Given the description of an element on the screen output the (x, y) to click on. 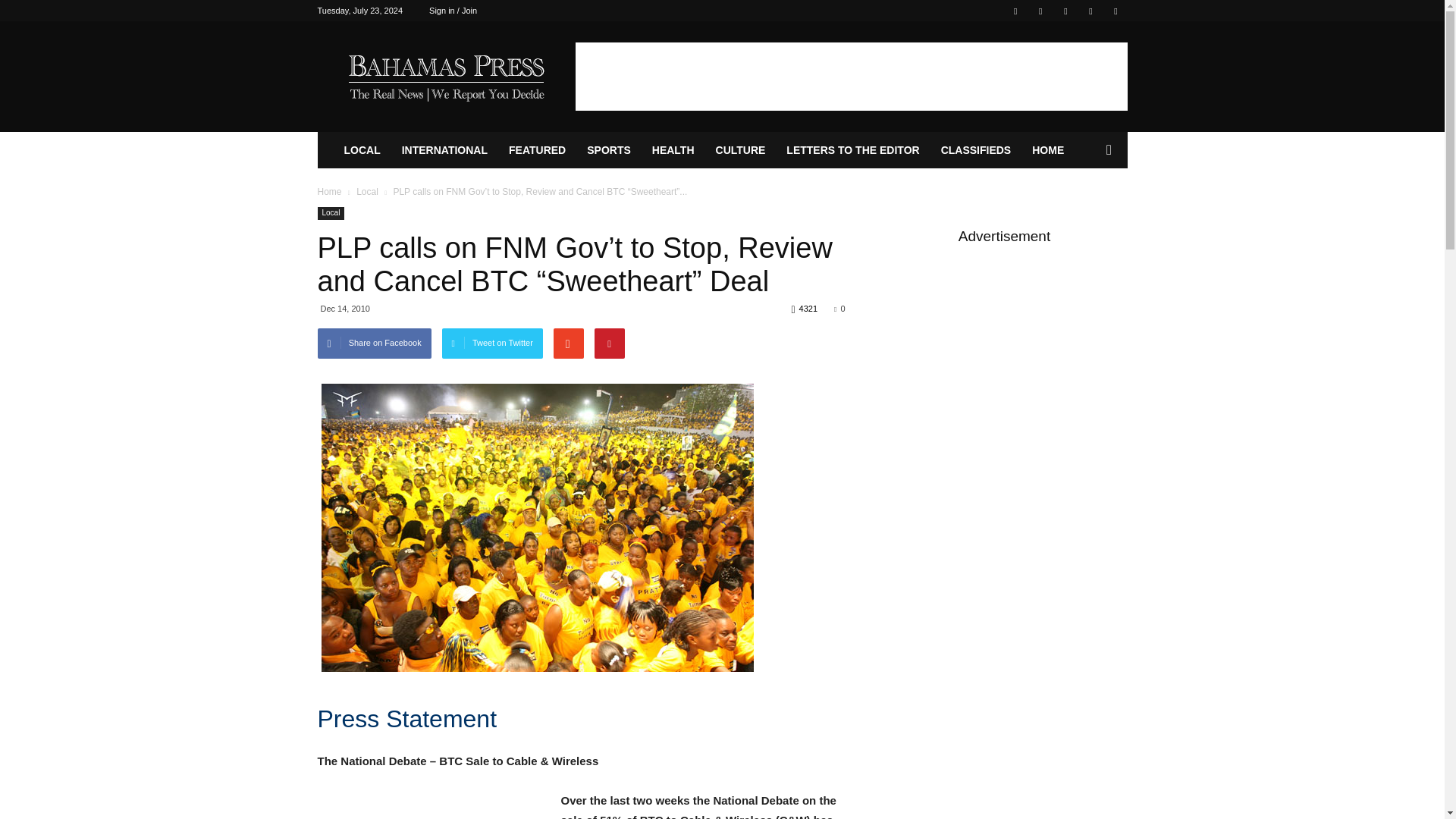
SPORTS (609, 149)
LETTERS TO THE EDITOR (853, 149)
LOCAL (362, 149)
FEATURED (536, 149)
Youtube (1114, 10)
VKontakte (1090, 10)
Twitter (1040, 10)
Advertisement (850, 76)
CULTURE (740, 149)
Advertisement (430, 808)
HEALTH (673, 149)
Vimeo (1065, 10)
View all posts in Local (367, 191)
Facebook (1015, 10)
INTERNATIONAL (444, 149)
